Given the description of an element on the screen output the (x, y) to click on. 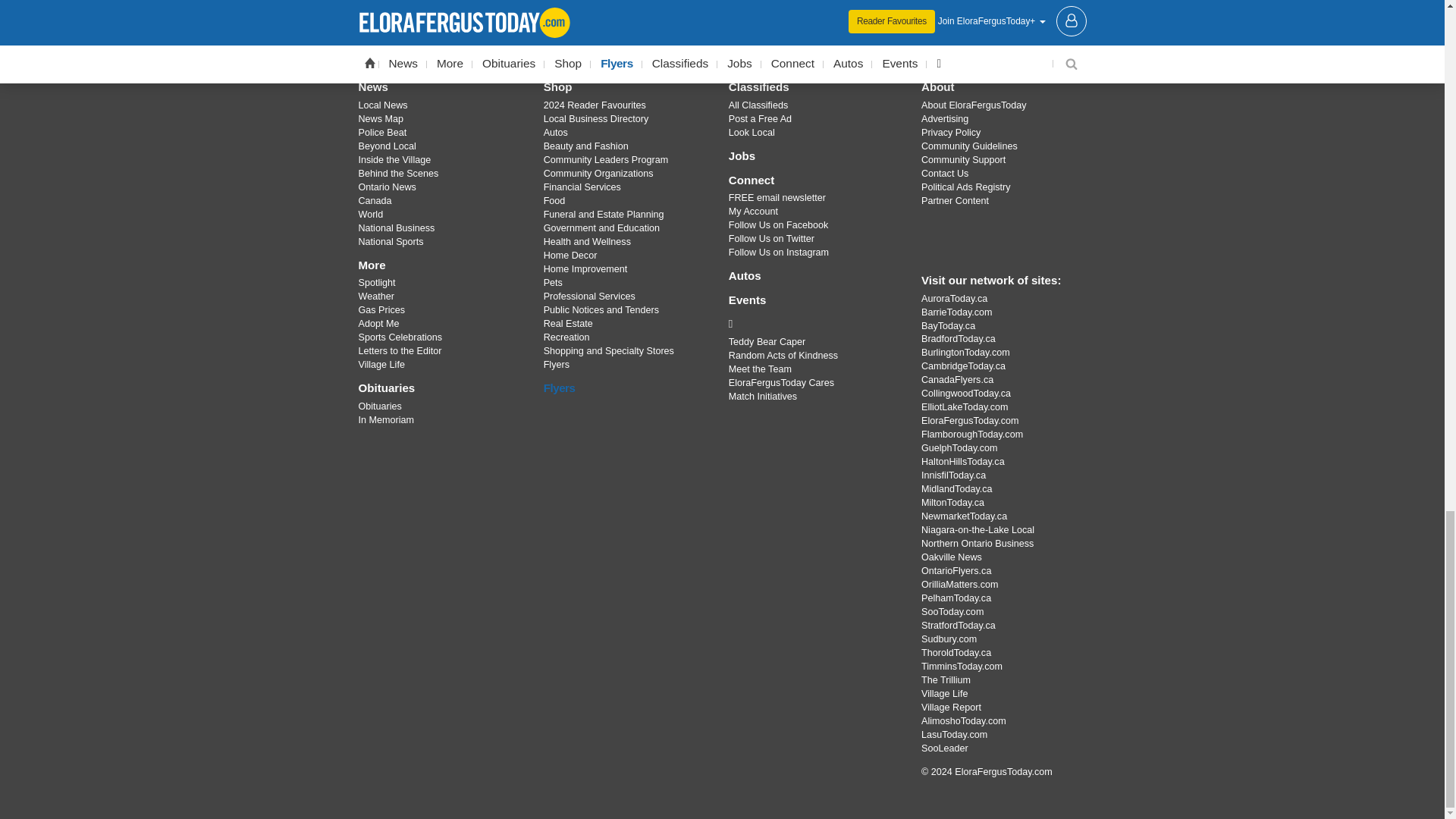
EloraFergusToday Cares (813, 323)
Facebook (683, 33)
Instagram (760, 33)
X (721, 33)
